Given the description of an element on the screen output the (x, y) to click on. 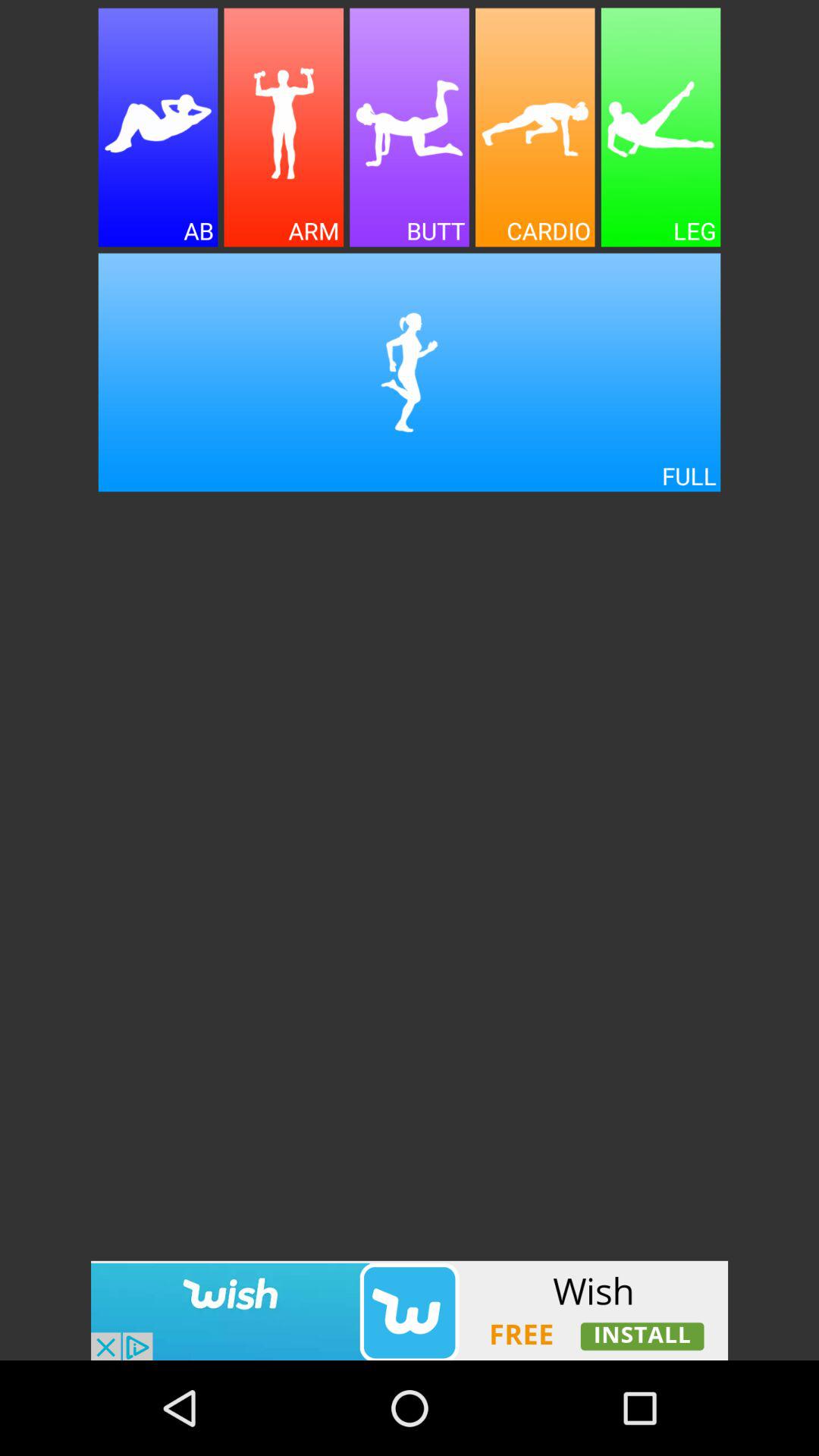
leg (660, 126)
